Given the description of an element on the screen output the (x, y) to click on. 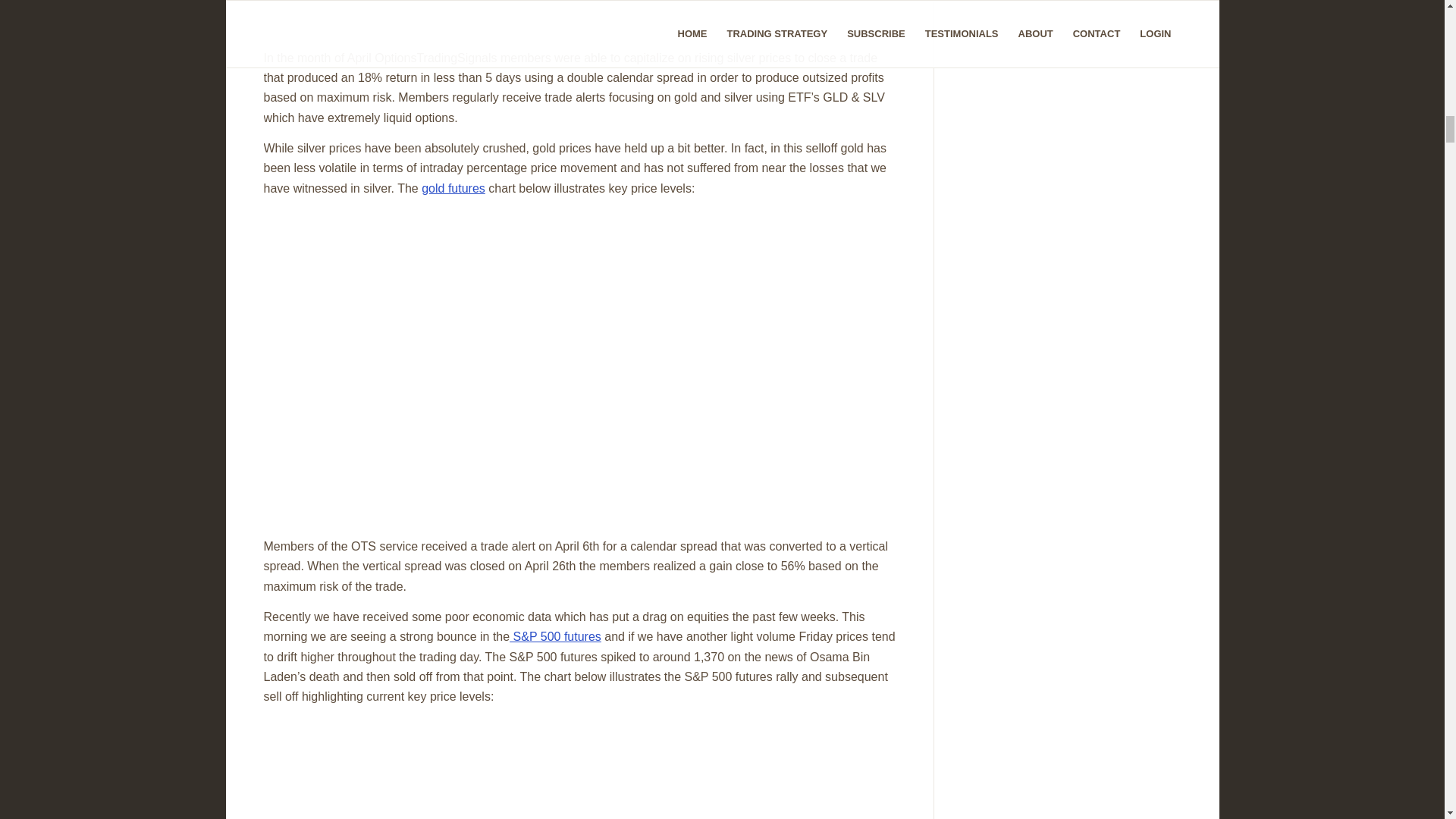
spxart (528, 763)
gold futures (453, 187)
silverart (527, 15)
